Given the description of an element on the screen output the (x, y) to click on. 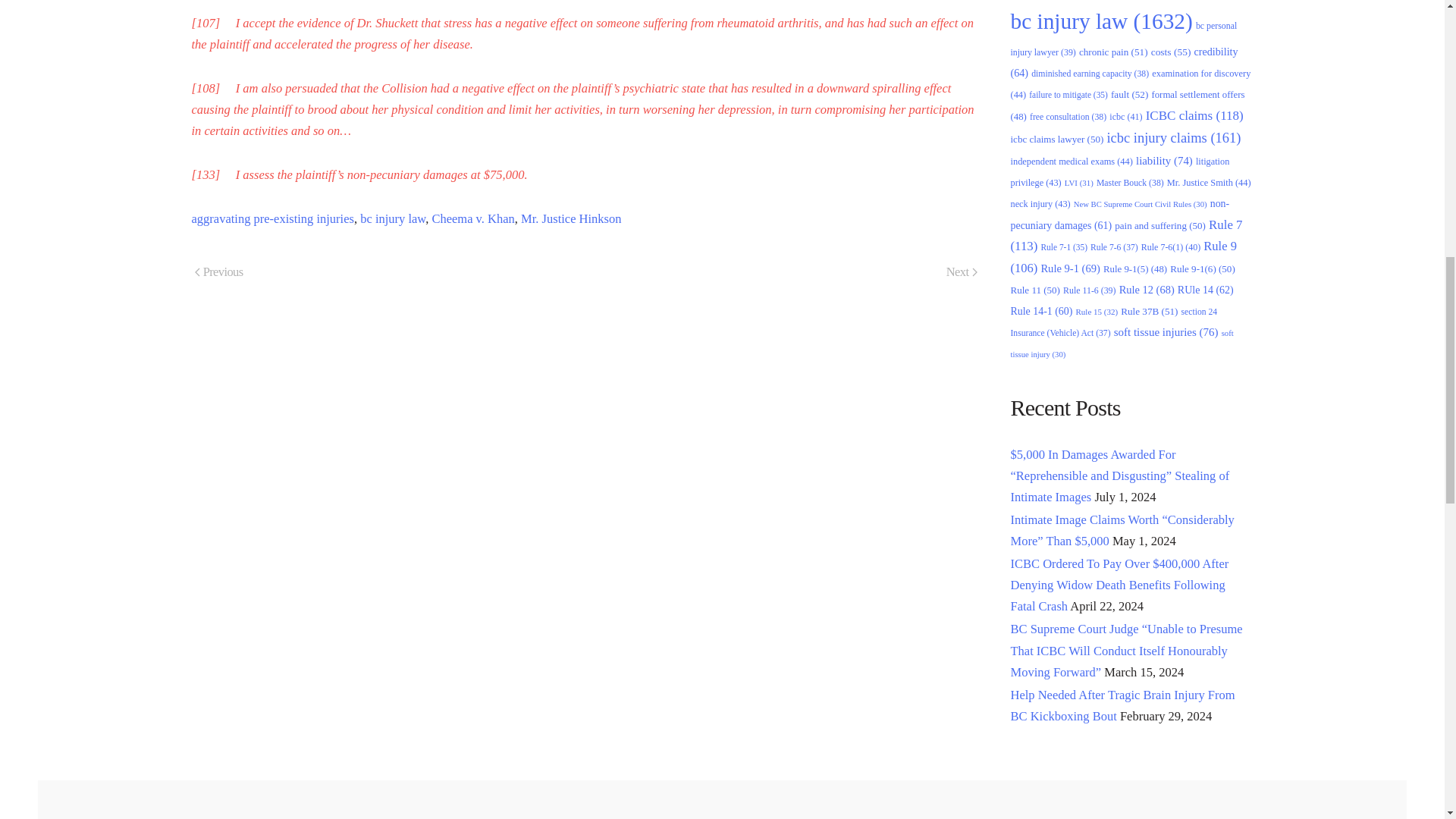
Next (961, 272)
aggravating pre-existing injuries (271, 218)
Mr. Justice Hinkson (571, 218)
Previous (218, 272)
Cheema v. Khan (471, 218)
bc injury law (392, 218)
